Given the description of an element on the screen output the (x, y) to click on. 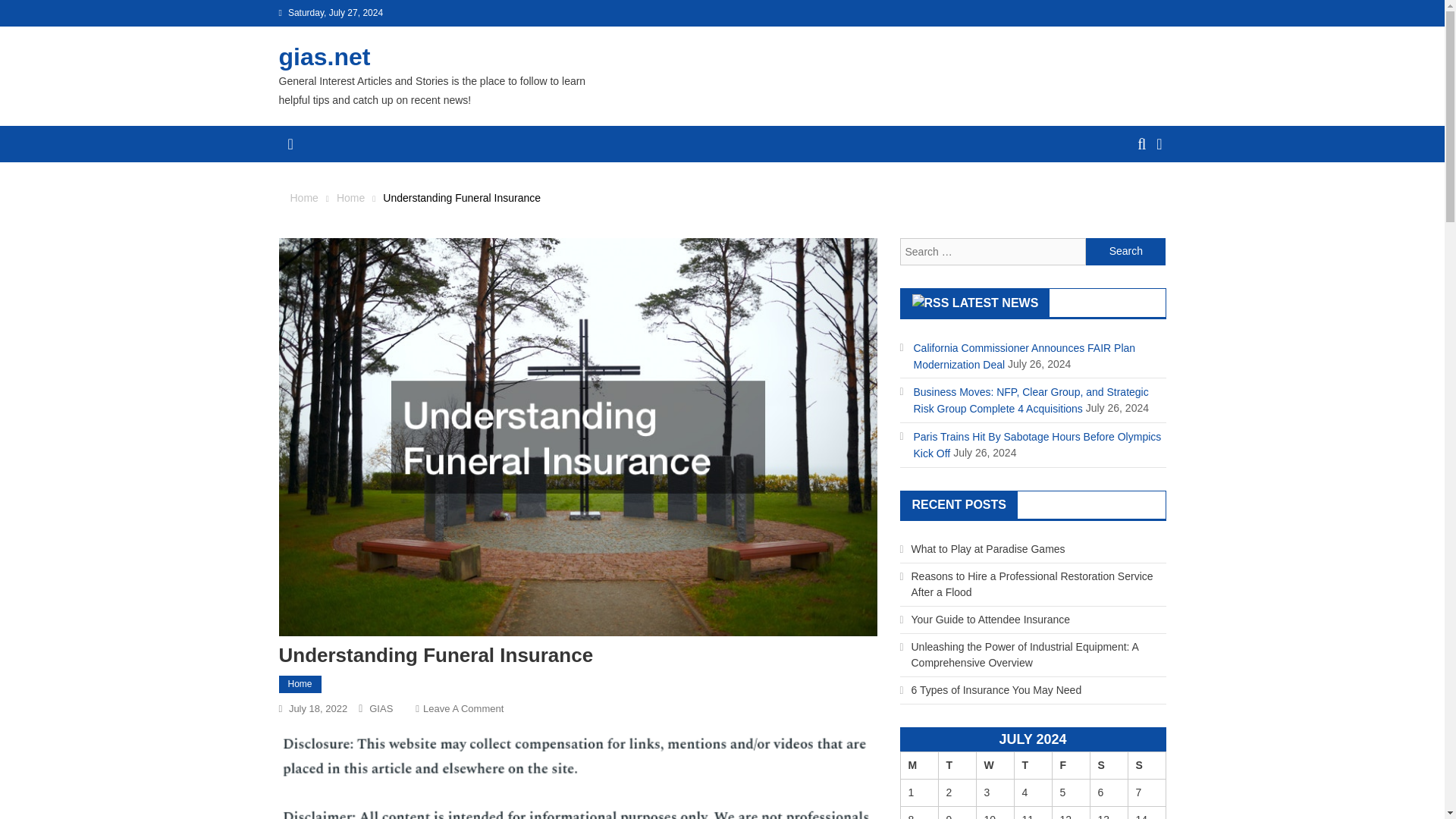
Thursday (1032, 765)
Search (1126, 251)
gias.net (325, 56)
Friday (1070, 765)
Home (300, 684)
Tuesday (956, 765)
LATEST NEWS (463, 708)
July 18, 2022 (995, 302)
Home (317, 708)
Sunday (350, 197)
Saturday (1146, 765)
Monday (1107, 765)
Wednesday (918, 765)
